Given the description of an element on the screen output the (x, y) to click on. 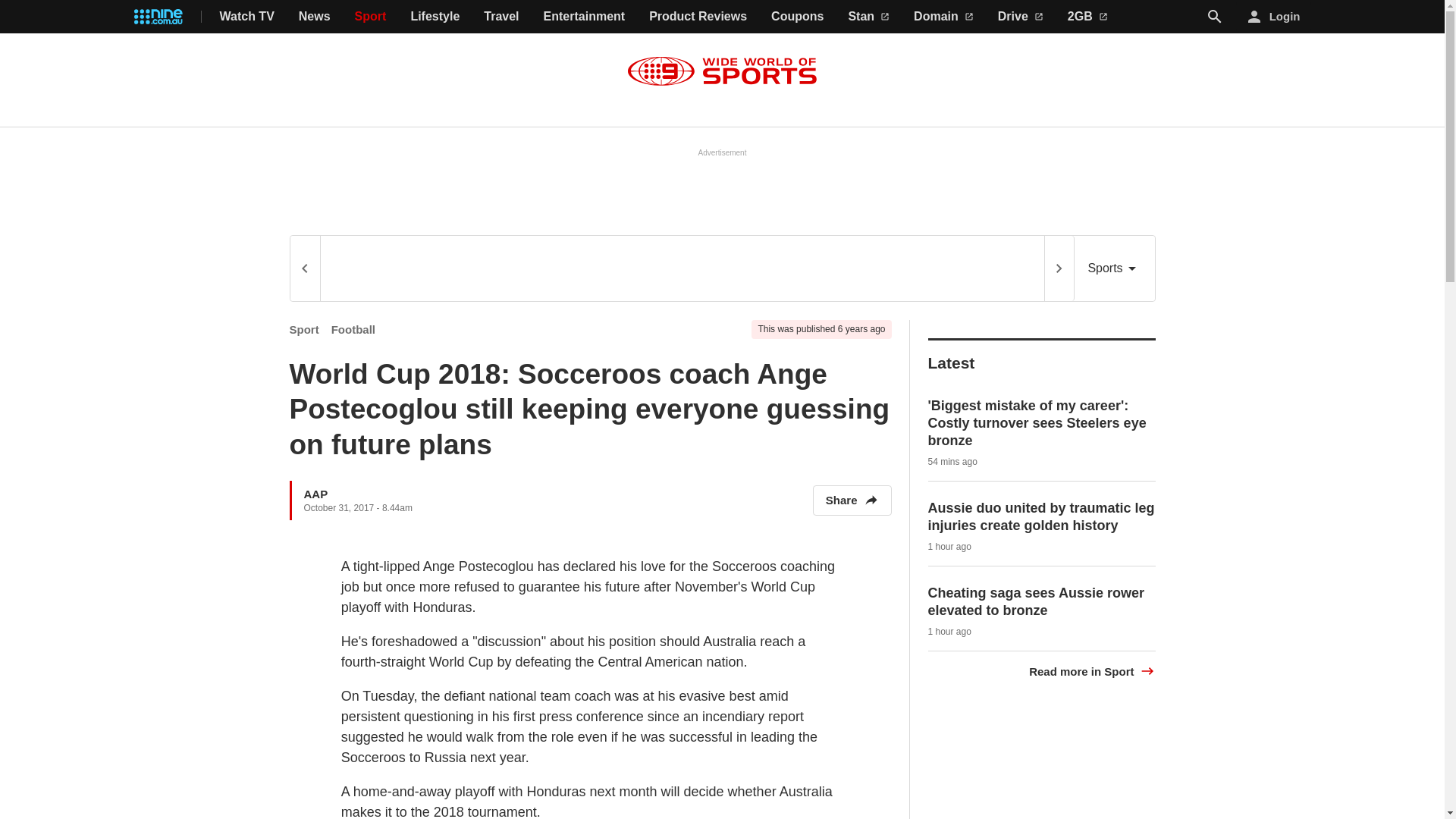
Sports (1114, 268)
Stan (868, 16)
News (314, 16)
Coupons (797, 16)
Domain (944, 16)
Cheating saga sees Aussie rower elevated to bronze (1036, 601)
Drive (1020, 16)
Share (851, 500)
Entertainment (584, 16)
